Given the description of an element on the screen output the (x, y) to click on. 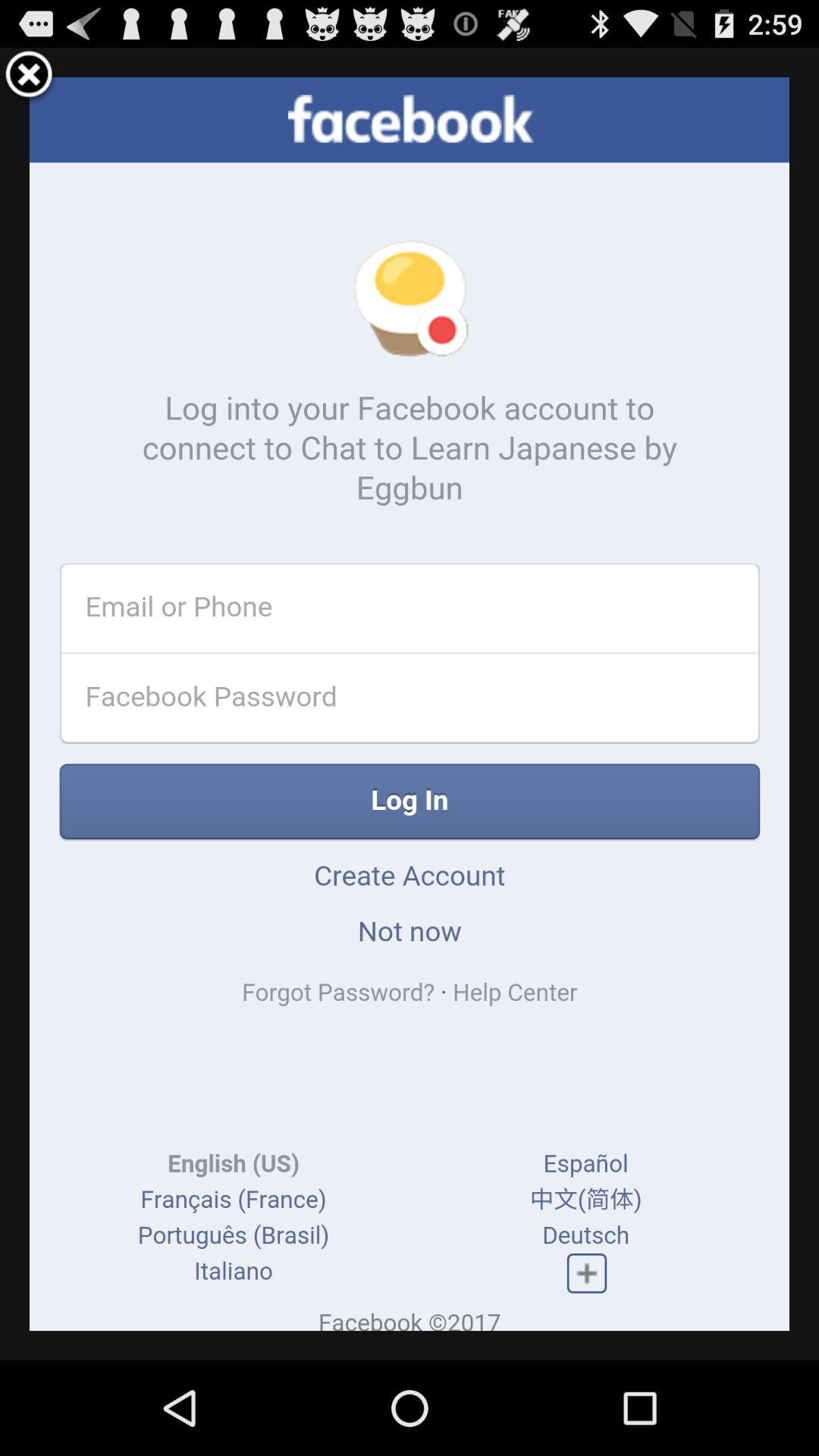
close page (29, 76)
